Given the description of an element on the screen output the (x, y) to click on. 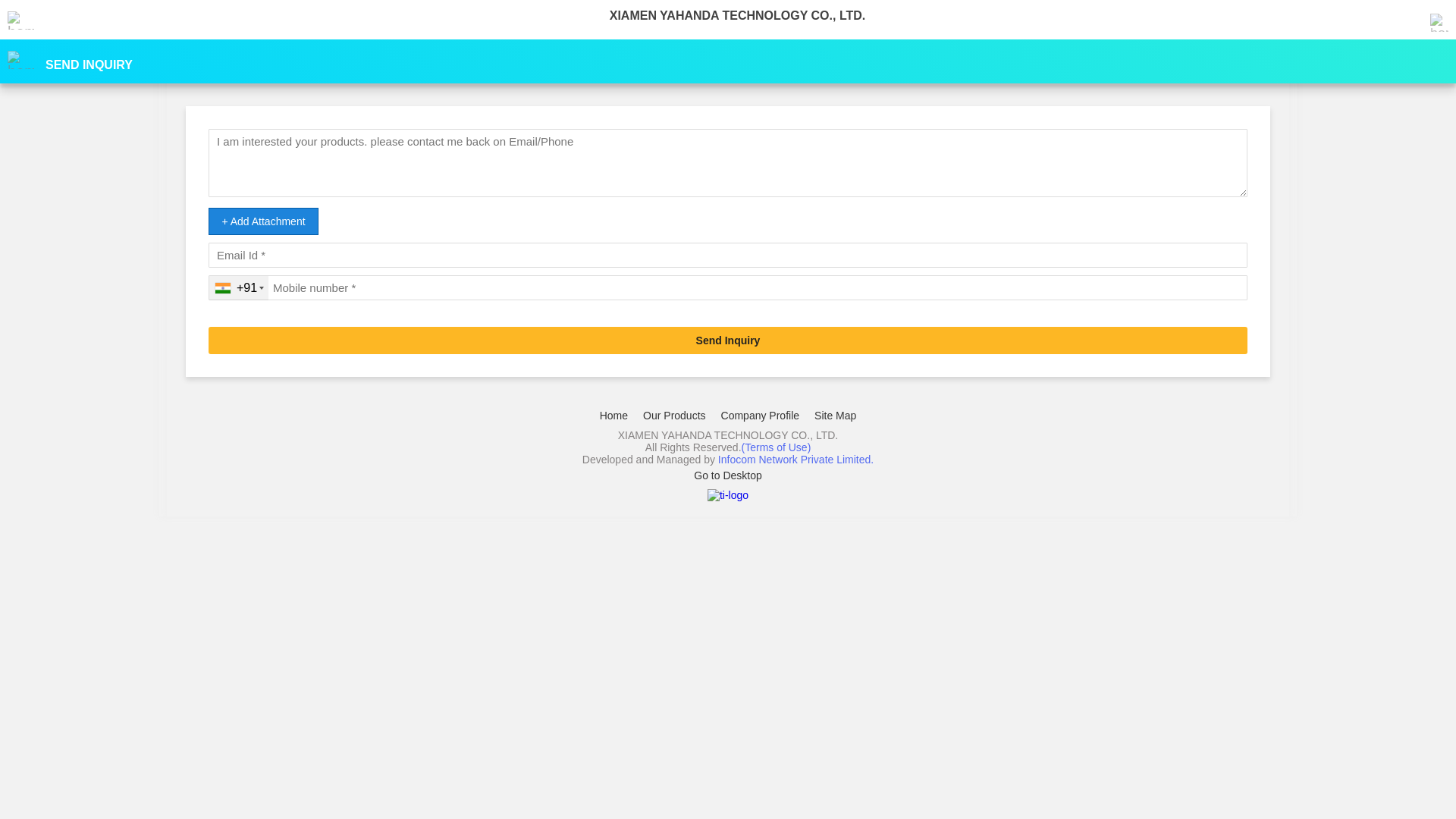
(Terms of Use) Element type: text (776, 447)
Company Profile Element type: text (760, 415)
Go to Desktop Element type: text (727, 475)
Home Element type: text (613, 415)
Site Map Element type: text (835, 415)
Send Inquiry Element type: text (727, 340)
Our Products Element type: text (674, 415)
Infocom Network Private Limited. Element type: text (795, 459)
